Given the description of an element on the screen output the (x, y) to click on. 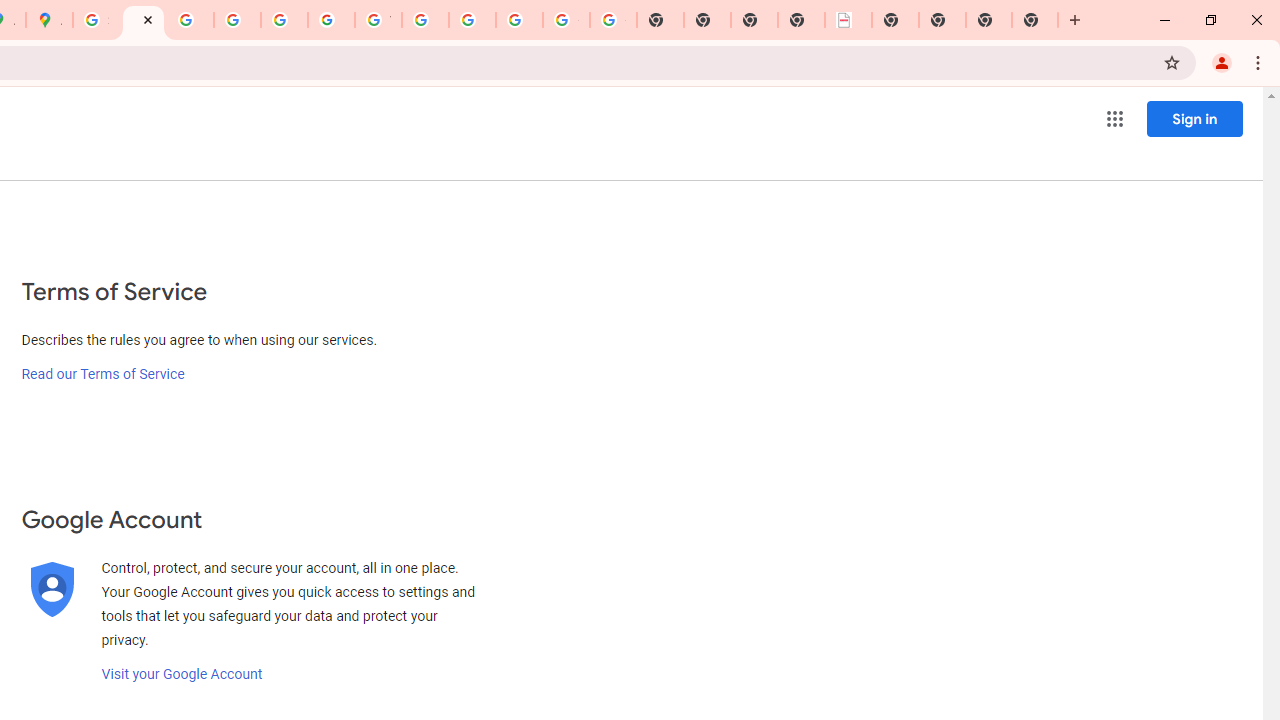
Privacy Help Center - Policies Help (237, 20)
Sign in - Google Accounts (96, 20)
New Tab (1035, 20)
New Tab (989, 20)
LAAD Defence & Security 2025 | BAE Systems (848, 20)
